Given the description of an element on the screen output the (x, y) to click on. 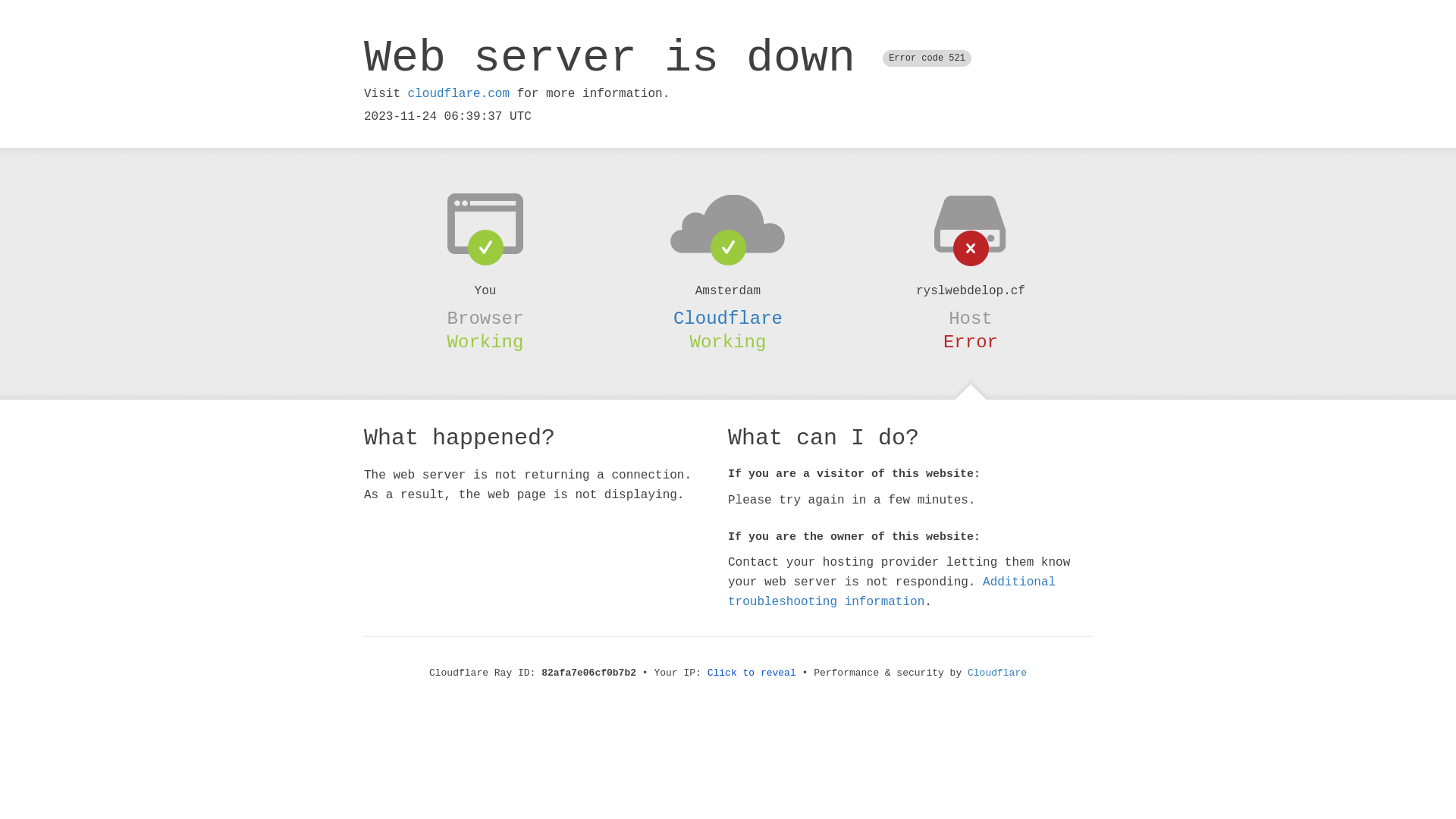
cloudflare.com Element type: text (458, 93)
Click to reveal Element type: text (751, 672)
Cloudflare Element type: text (996, 672)
Additional troubleshooting information Element type: text (891, 591)
Cloudflare Element type: text (727, 318)
